Given the description of an element on the screen output the (x, y) to click on. 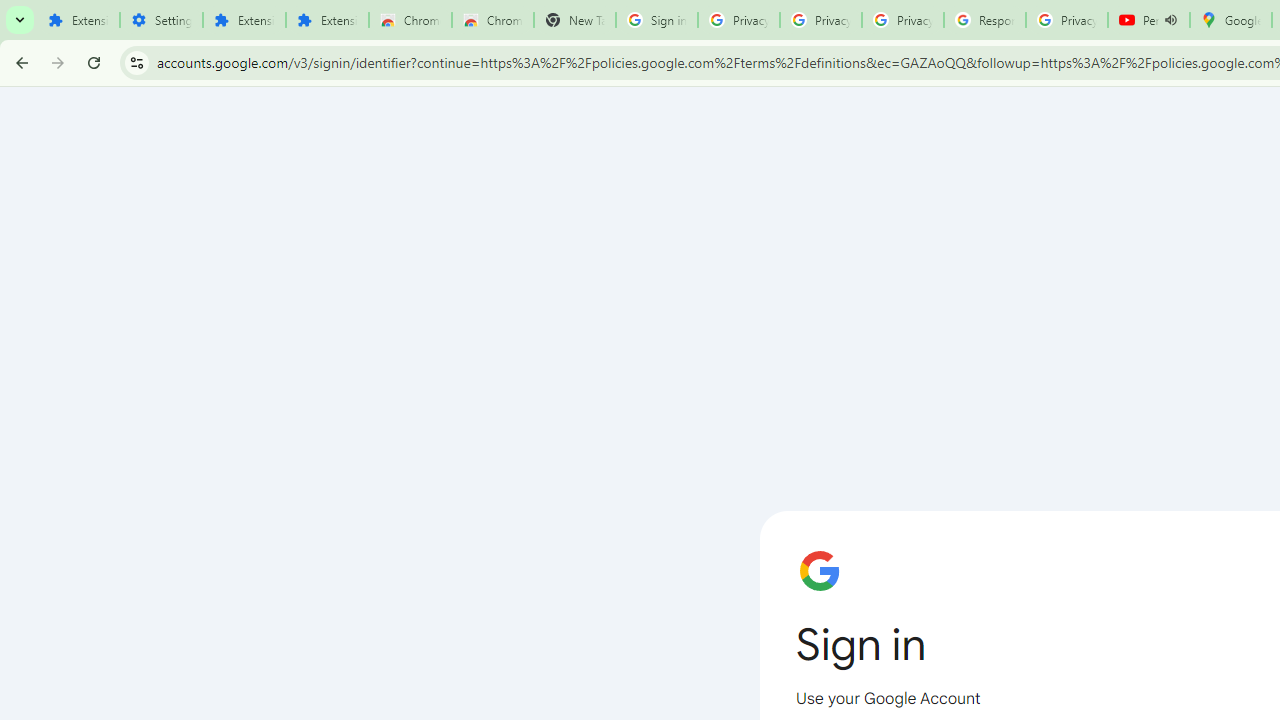
Personalized AI for you | Gemini - YouTube - Audio playing (1149, 20)
Chrome Web Store (409, 20)
Extensions (78, 20)
Extensions (326, 20)
Sign in - Google Accounts (656, 20)
Extensions (244, 20)
